Given the description of an element on the screen output the (x, y) to click on. 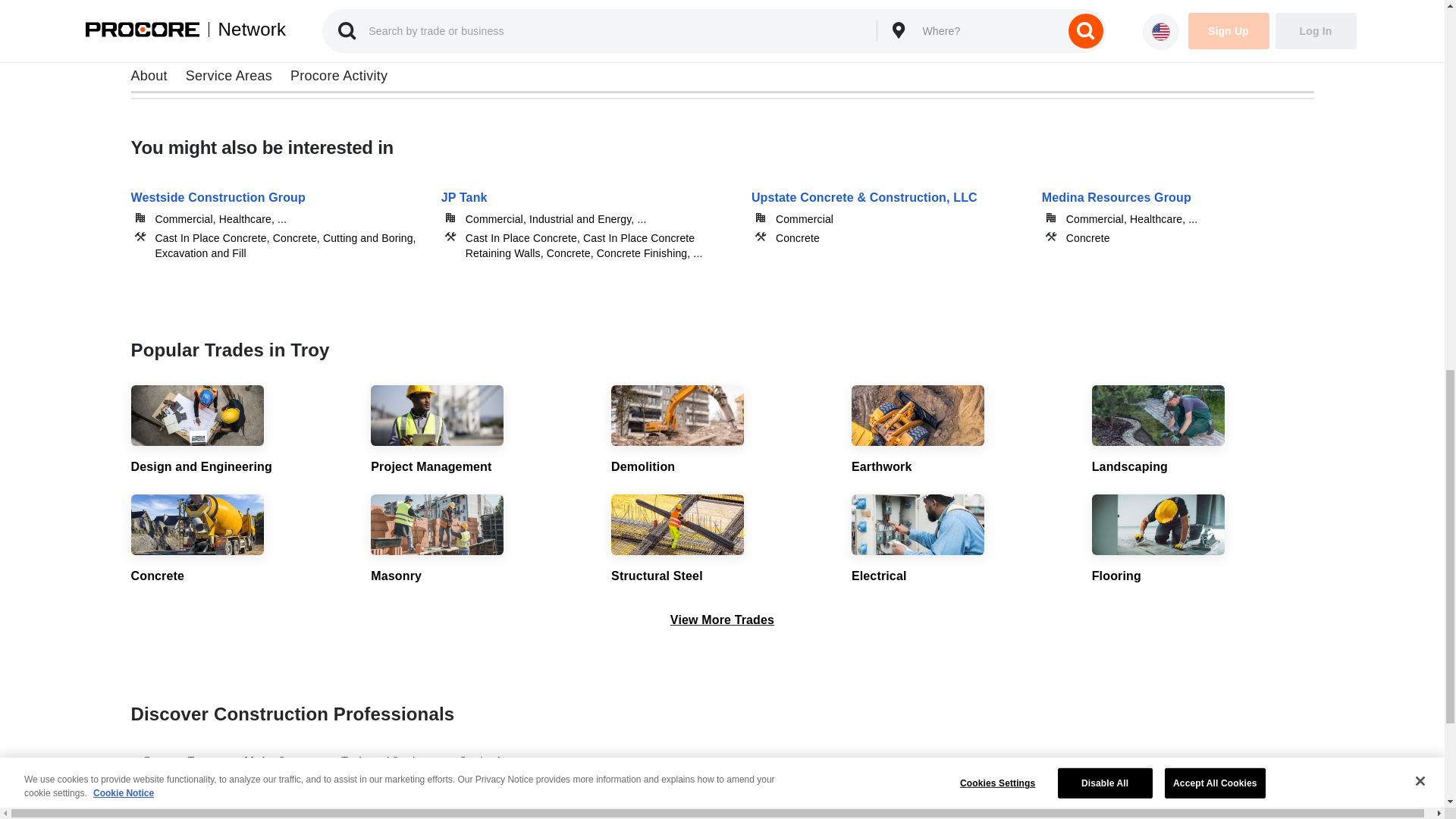
Engineers (379, 811)
Trades and Services (385, 760)
Market Sectors (277, 760)
General Contractors (550, 811)
Masonry (481, 539)
Learn more (212, 34)
Westside Construction Group (276, 213)
Design and Engineering (241, 429)
Architects (209, 811)
